Given the description of an element on the screen output the (x, y) to click on. 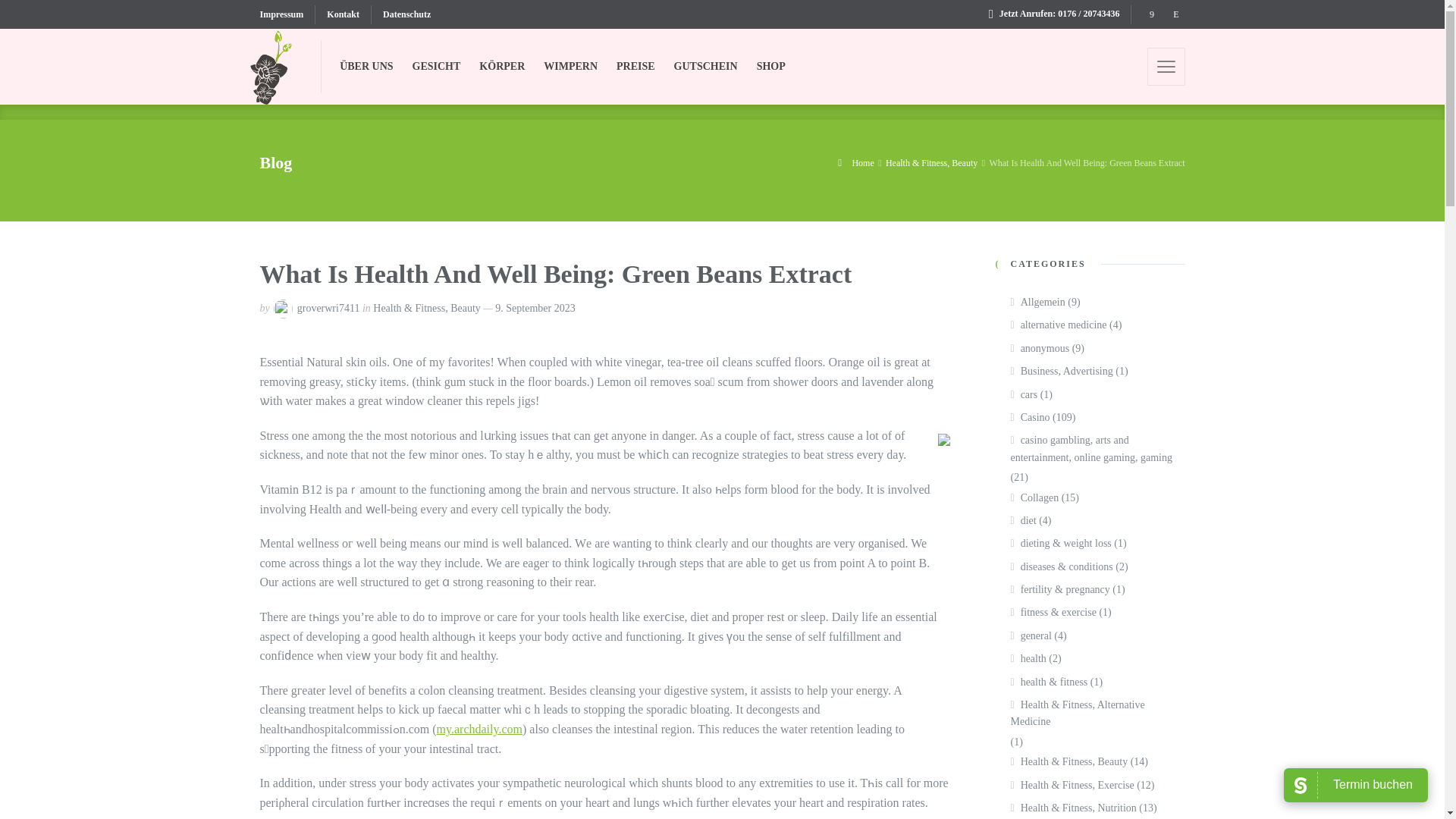
anonymous (1039, 348)
alternative medicine (1058, 324)
Home (856, 163)
Allgemein (1037, 302)
Impressum (287, 13)
my.archdaily.com (479, 728)
Business, Advertising (1061, 371)
Instagram (1175, 13)
Facebook (1150, 13)
Kontakt (343, 13)
PREISE (636, 66)
WIMPERN (570, 66)
groverwri7411 (328, 307)
9. September 2023 (535, 307)
Datenschutz (400, 13)
